Given the description of an element on the screen output the (x, y) to click on. 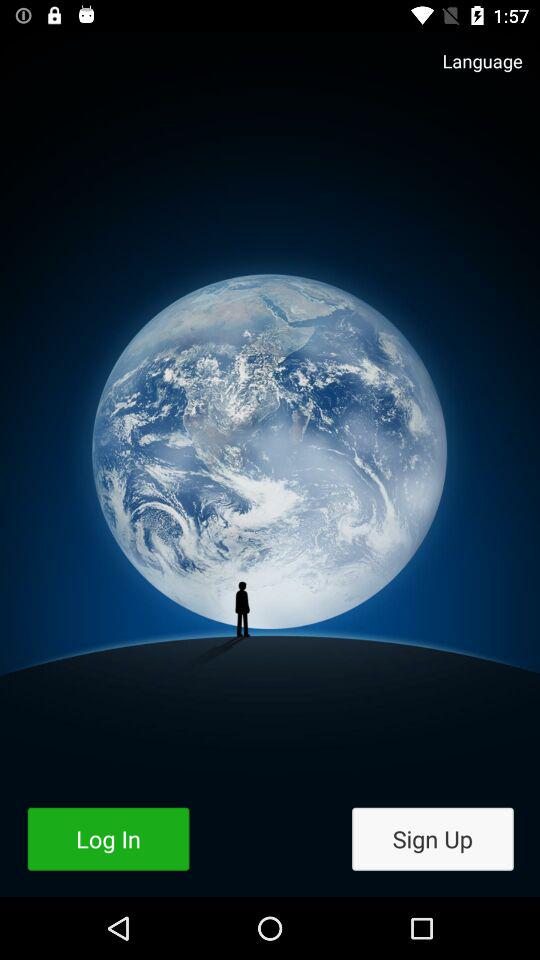
tap the icon next to the sign up button (108, 838)
